Given the description of an element on the screen output the (x, y) to click on. 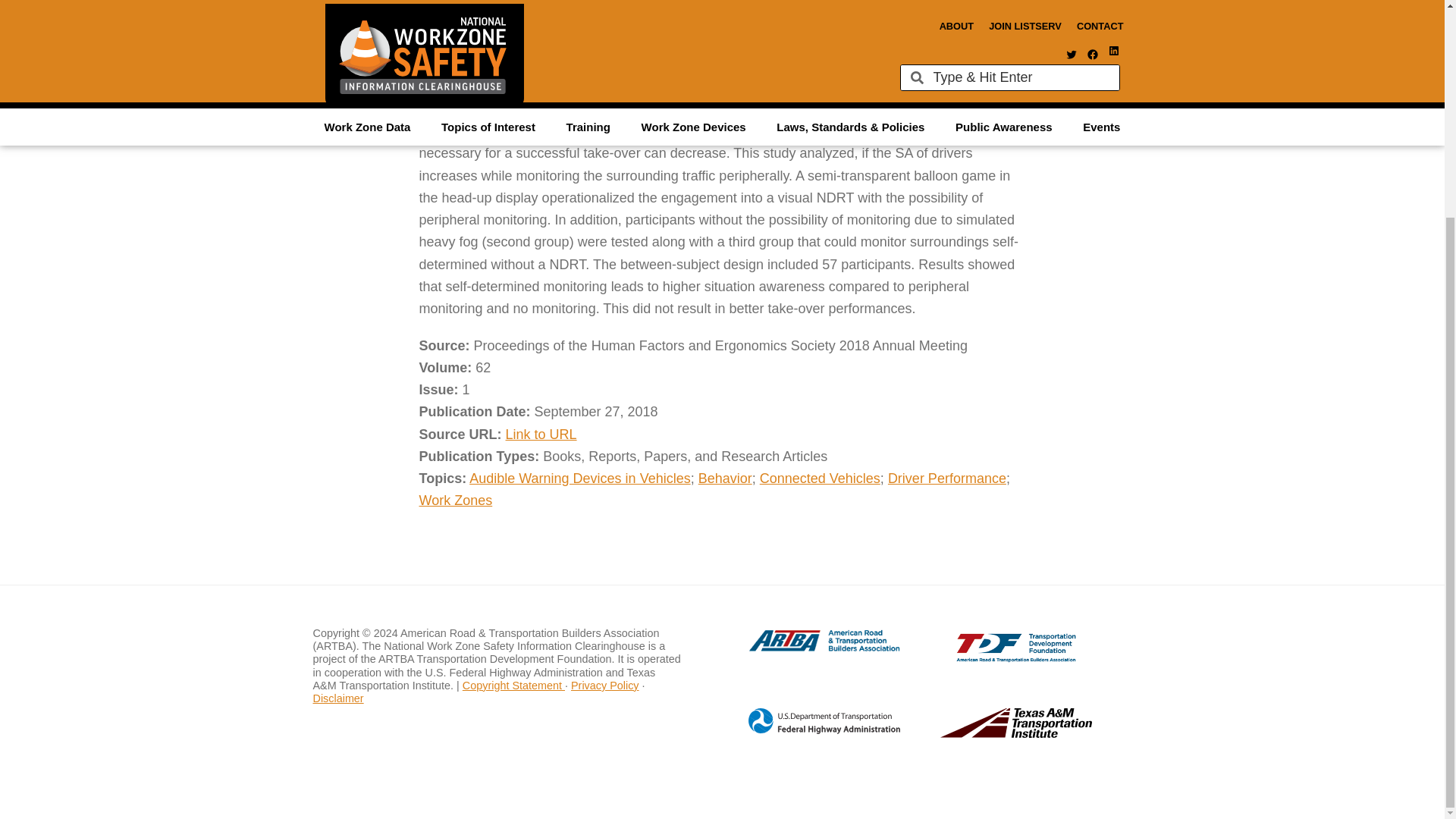
ARTBA Transportation Development Foundation website (985, 658)
Link to URL (540, 434)
FHWA website (808, 730)
ARTBA website (808, 649)
